Given the description of an element on the screen output the (x, y) to click on. 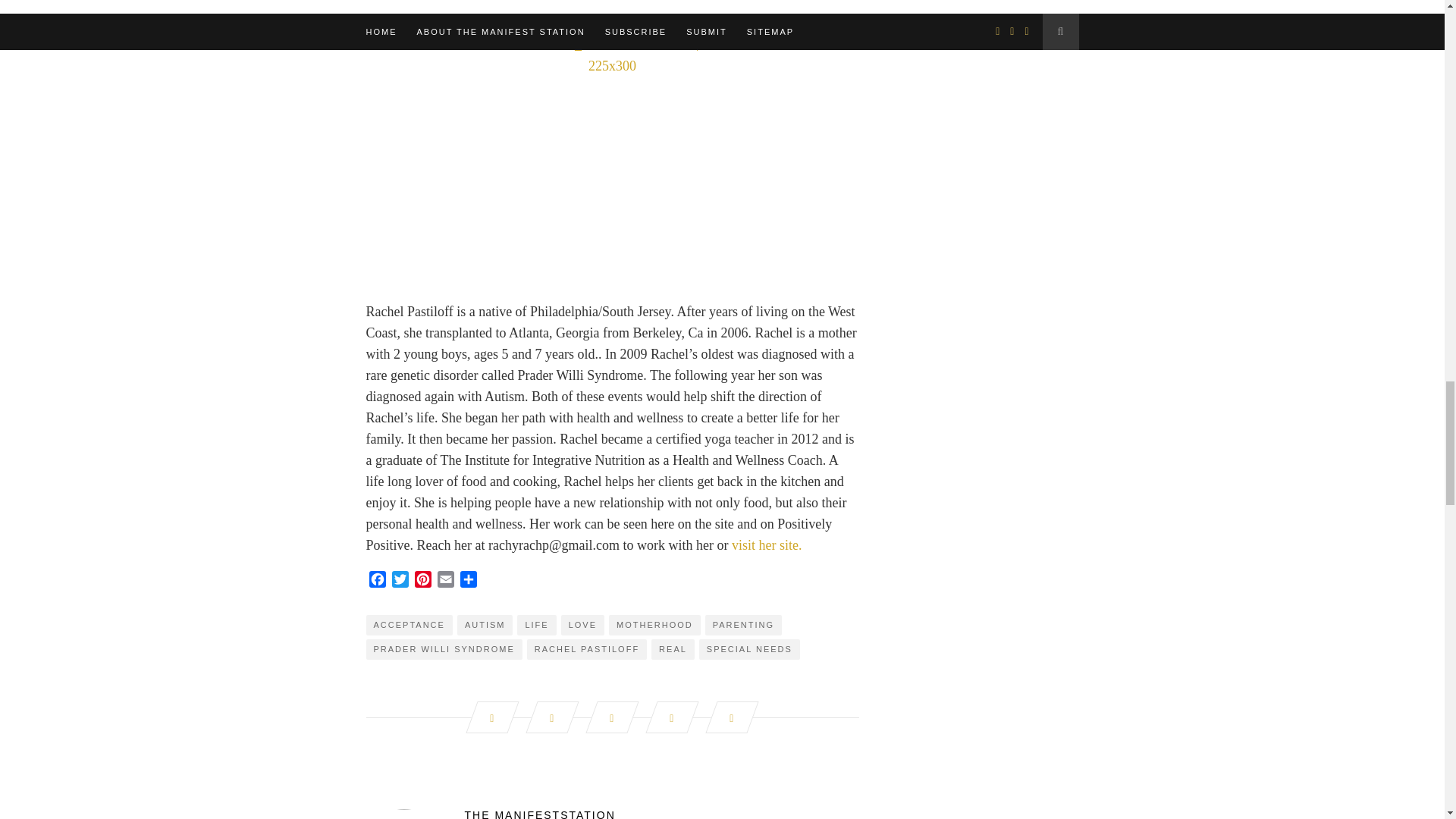
ACCEPTANCE (408, 625)
Twitter (399, 581)
Posts by The ManifestStation (612, 814)
Pinterest (421, 581)
Facebook (376, 581)
visit her site.  (768, 544)
AUTISM (485, 625)
Facebook (376, 581)
Pinterest (421, 581)
Email (445, 581)
Email (445, 581)
Twitter (399, 581)
